Given the description of an element on the screen output the (x, y) to click on. 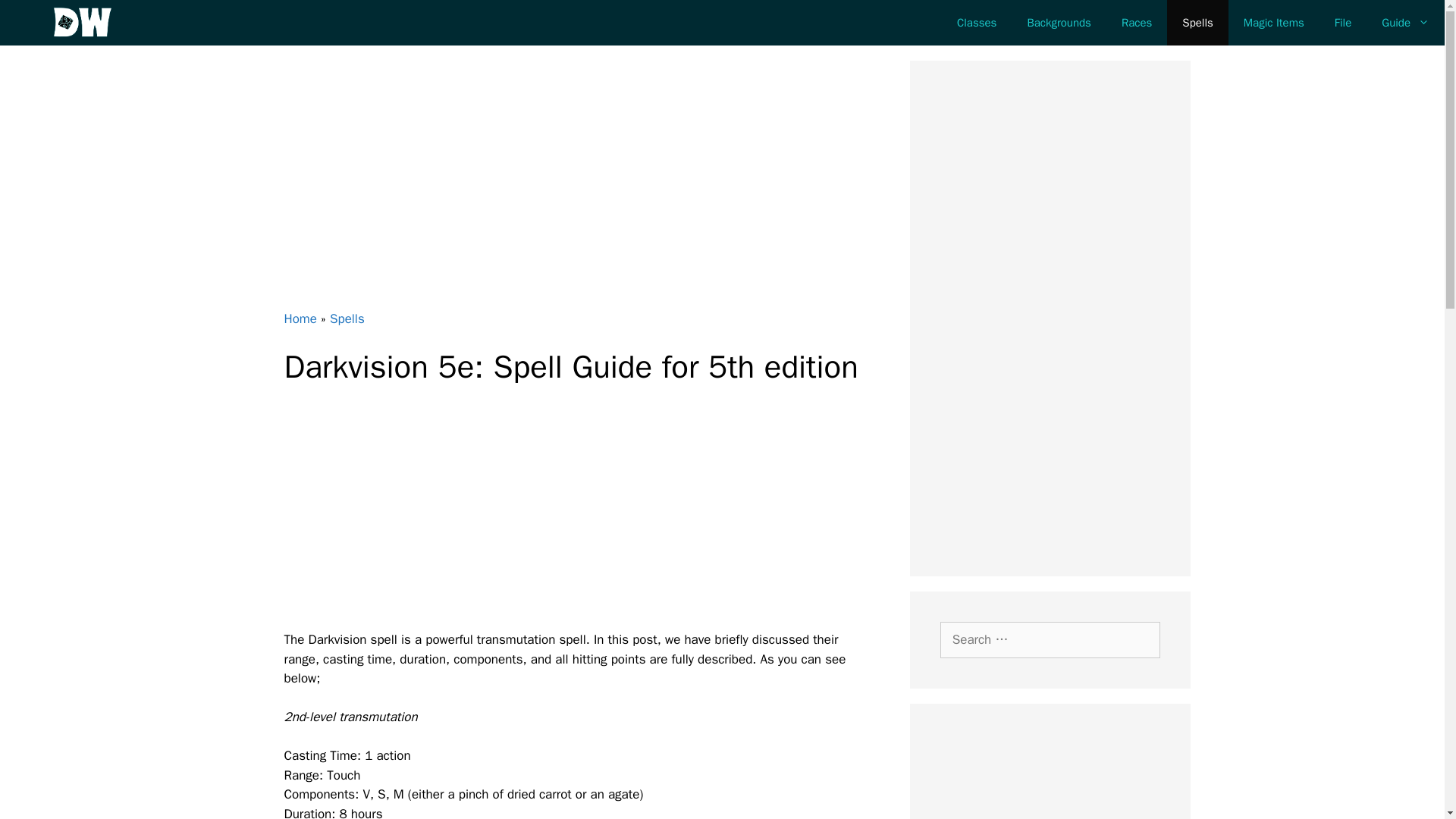
Search for: (1050, 639)
Advertisement (589, 517)
Advertisement (1050, 776)
DNDWiki (82, 22)
Spells (347, 318)
File (1343, 22)
Races (1136, 22)
DNDWiki (87, 22)
Home (299, 318)
Backgrounds (1058, 22)
Magic Items (1273, 22)
Spells (1197, 22)
Classes (976, 22)
